Given the description of an element on the screen output the (x, y) to click on. 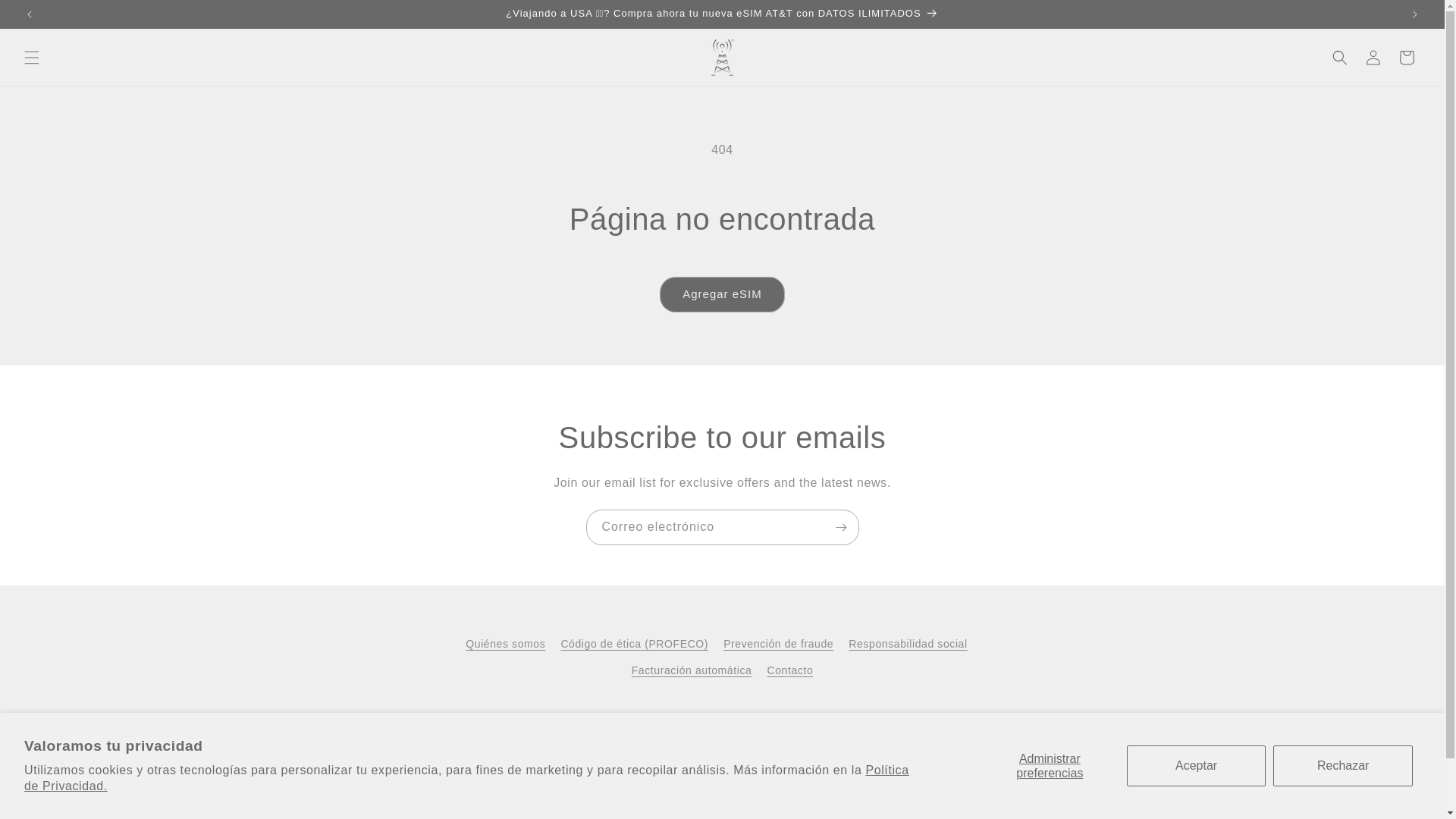
Agregar eSIM (721, 294)
Ir directamente al contenido (45, 17)
Contacto (789, 670)
Administrar preferencias (1049, 765)
Carrito (1406, 57)
Rechazar (1342, 765)
Instagram (705, 723)
Aceptar (1196, 765)
Responsabilidad social (907, 643)
